Given the description of an element on the screen output the (x, y) to click on. 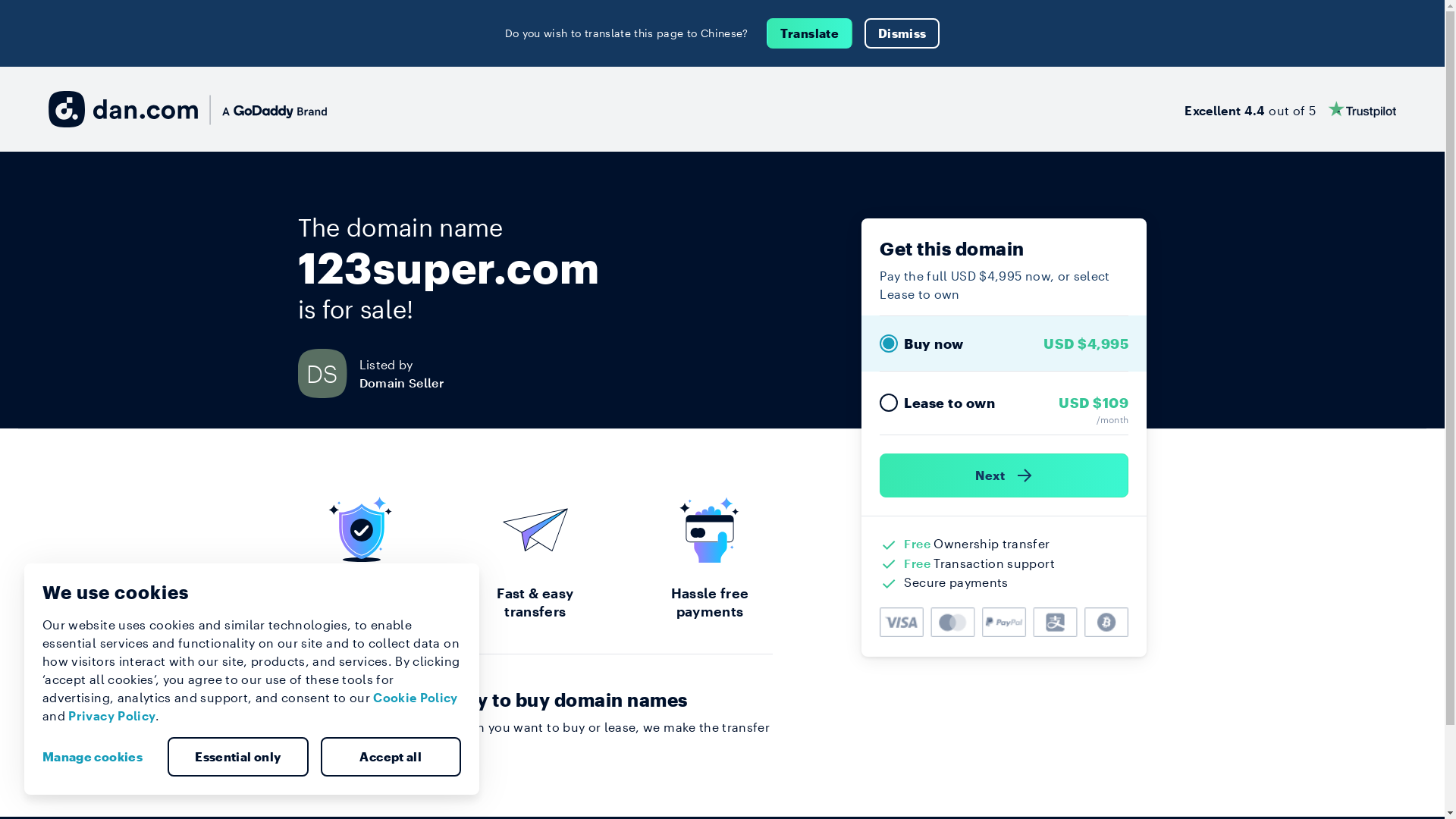
Essential only Element type: text (237, 756)
Translate Element type: text (809, 33)
Privacy Policy Element type: text (111, 715)
Cookie Policy Element type: text (415, 697)
Dismiss Element type: text (901, 33)
Excellent 4.4 out of 5 Element type: text (1290, 109)
Next
) Element type: text (1003, 475)
Manage cookies Element type: text (98, 756)
Accept all Element type: text (390, 756)
